Given the description of an element on the screen output the (x, y) to click on. 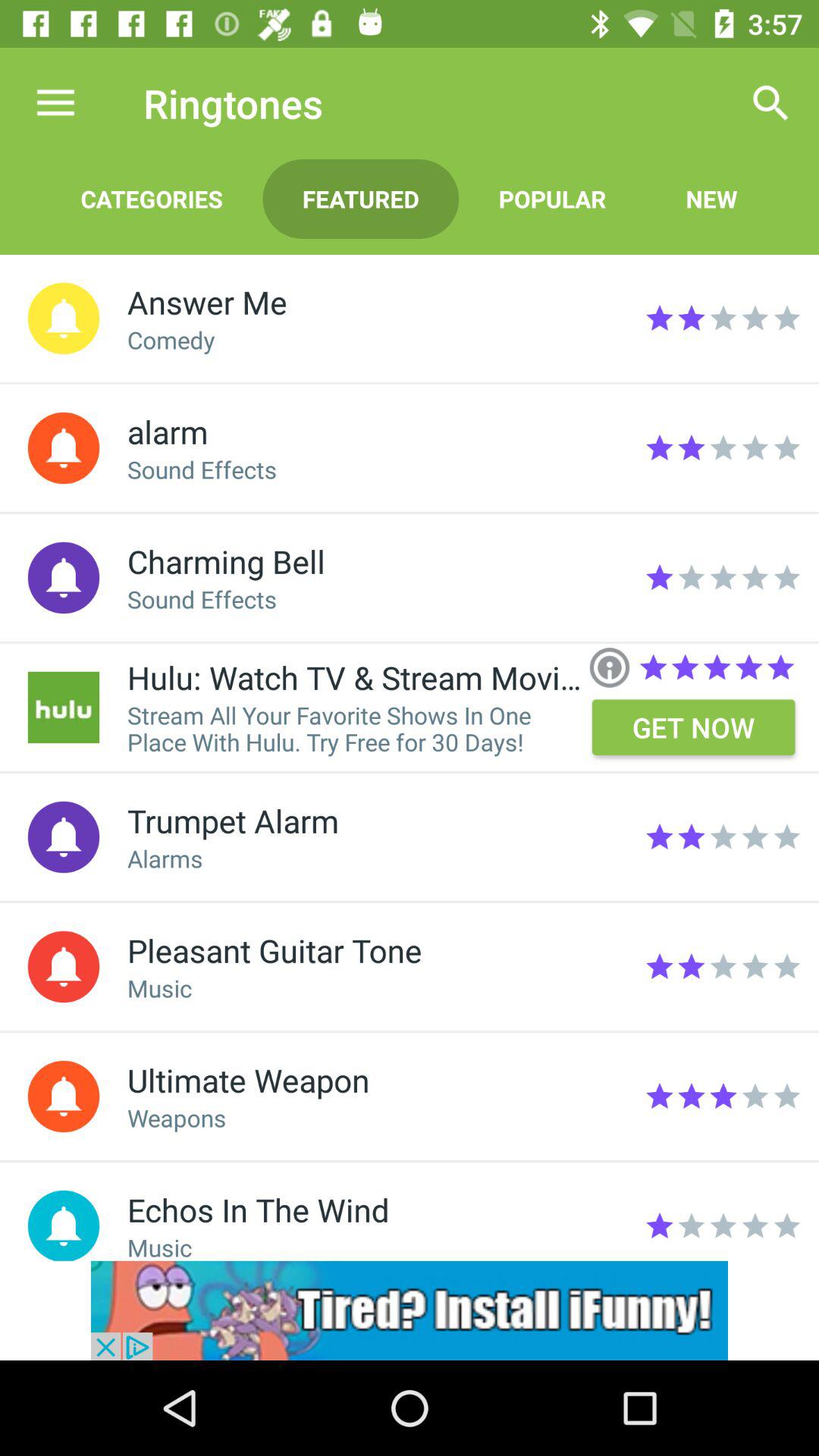
open hulu advertisement (63, 707)
